Given the description of an element on the screen output the (x, y) to click on. 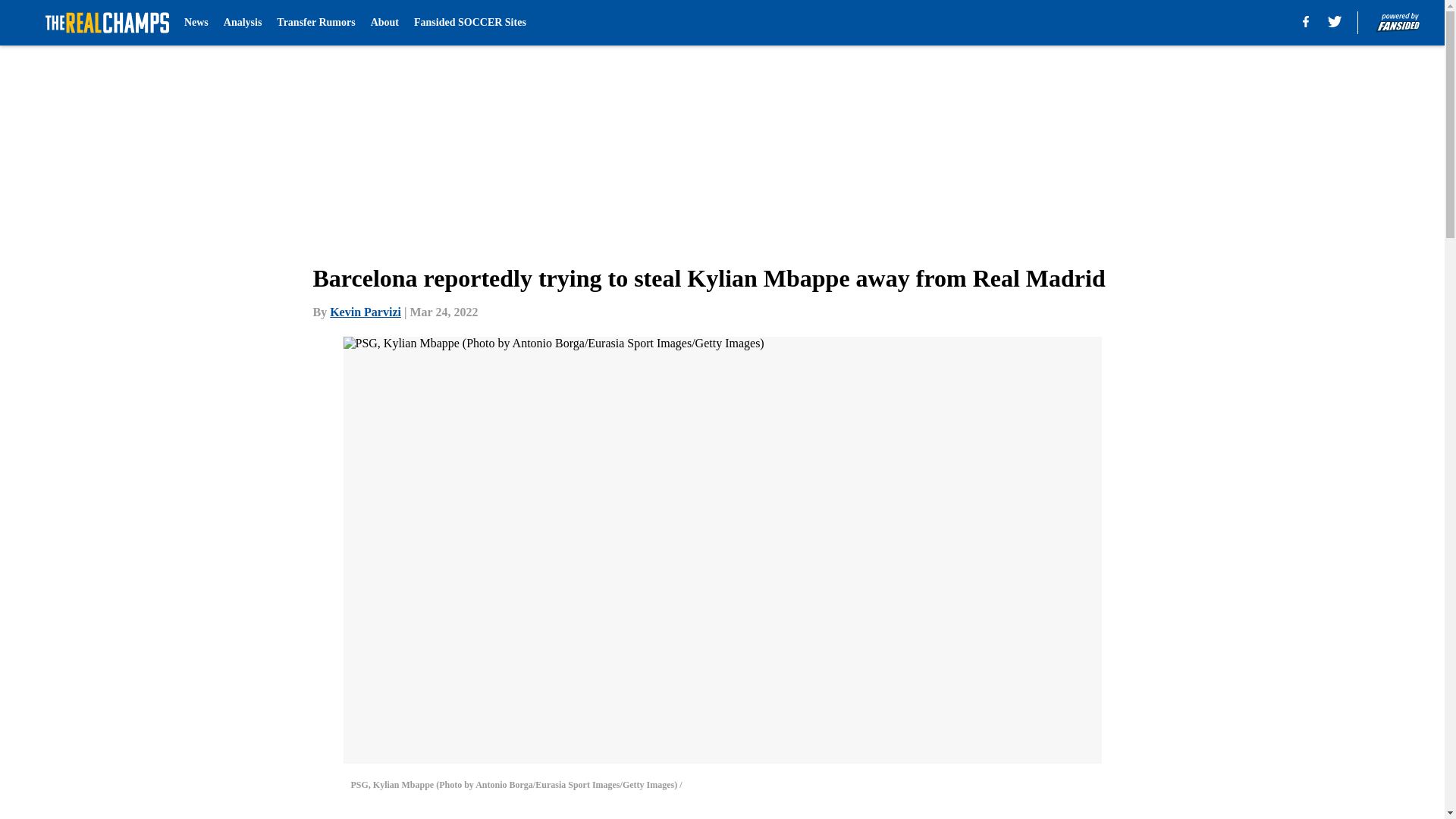
Analysis (243, 22)
News (196, 22)
Fansided SOCCER Sites (469, 22)
Transfer Rumors (315, 22)
Kevin Parvizi (365, 311)
About (384, 22)
